Given the description of an element on the screen output the (x, y) to click on. 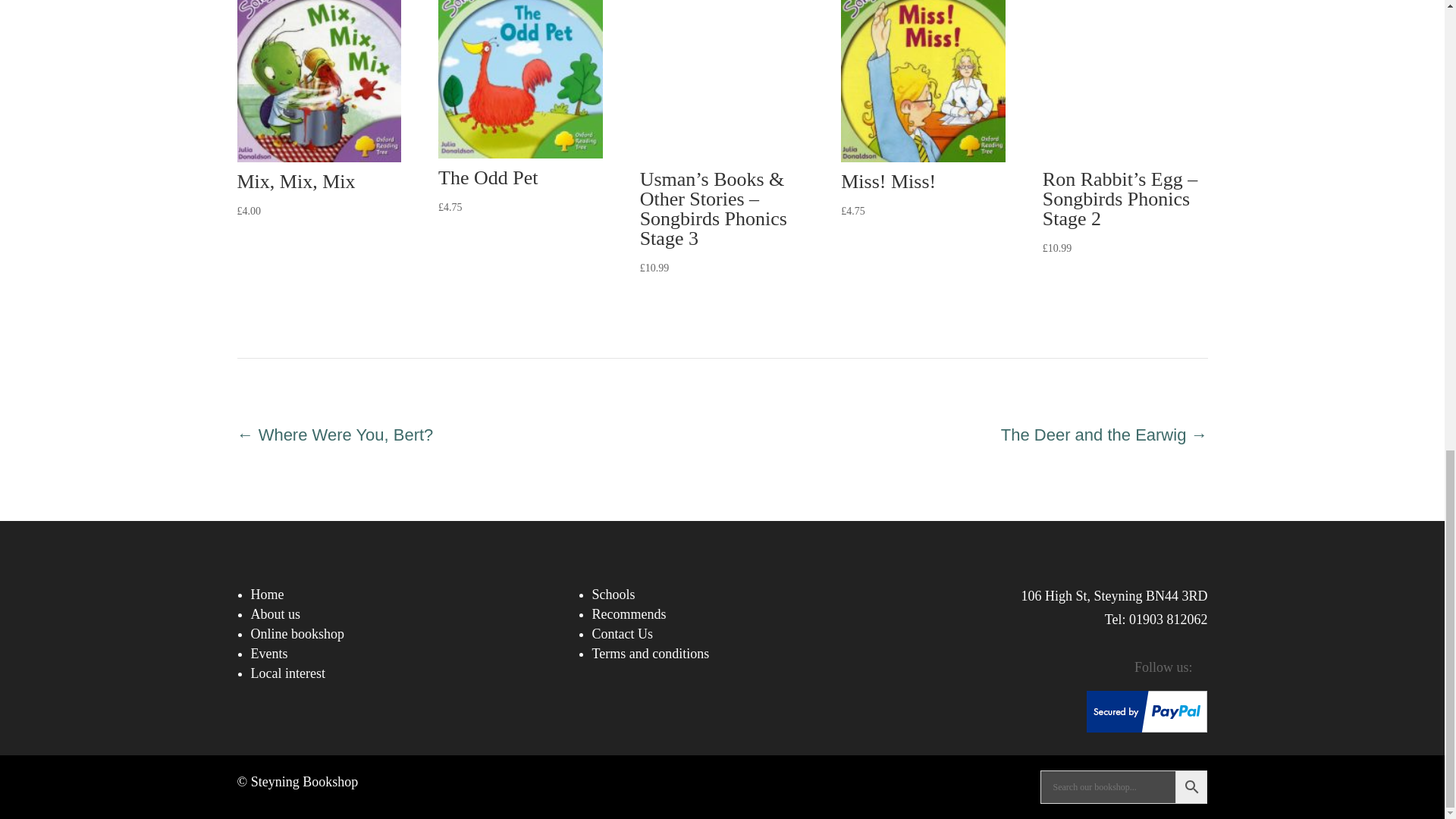
Online bookshop (296, 633)
About us (274, 613)
Home (266, 594)
